Given the description of an element on the screen output the (x, y) to click on. 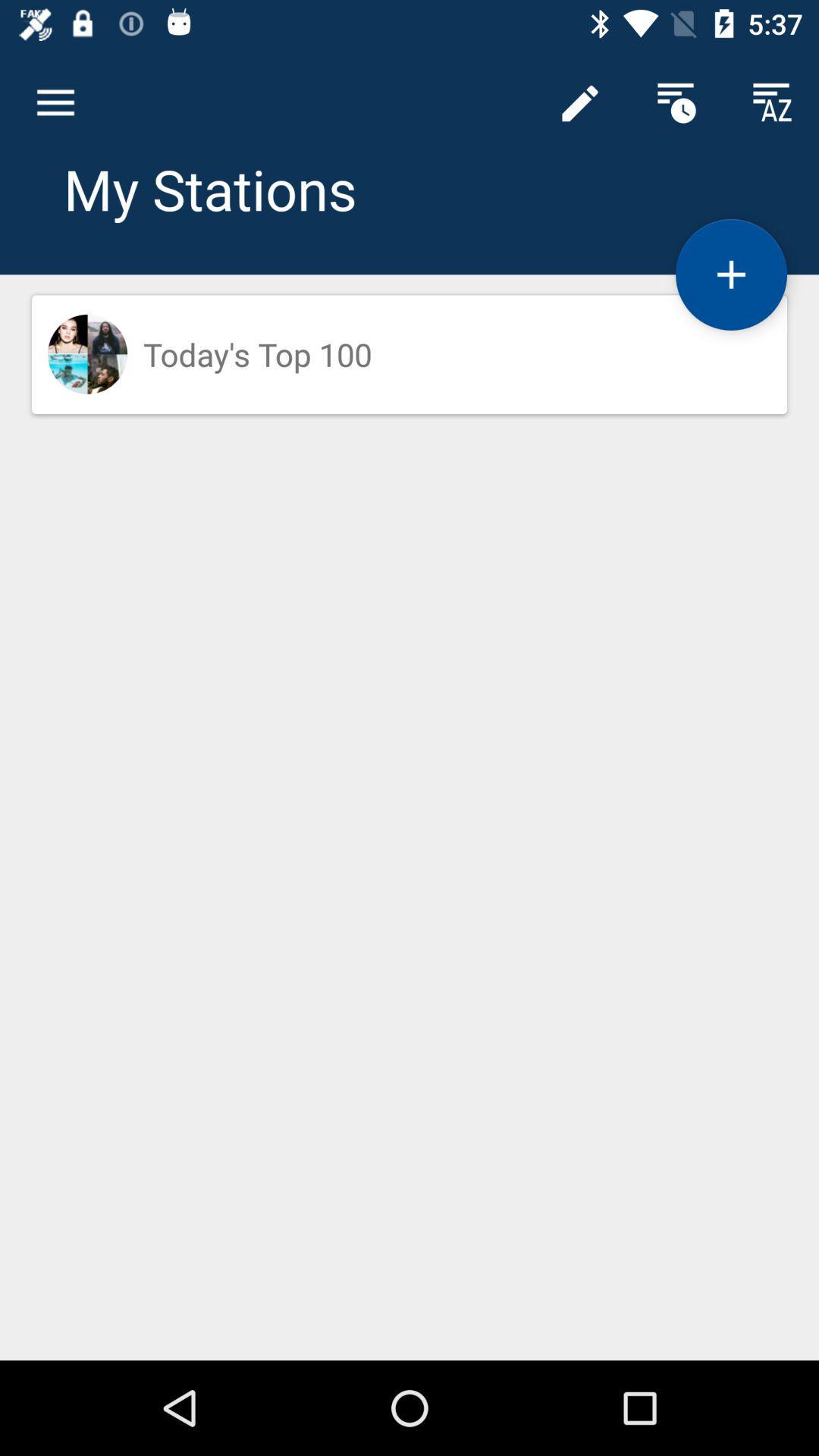
turn on icon above the today s top (579, 103)
